Given the description of an element on the screen output the (x, y) to click on. 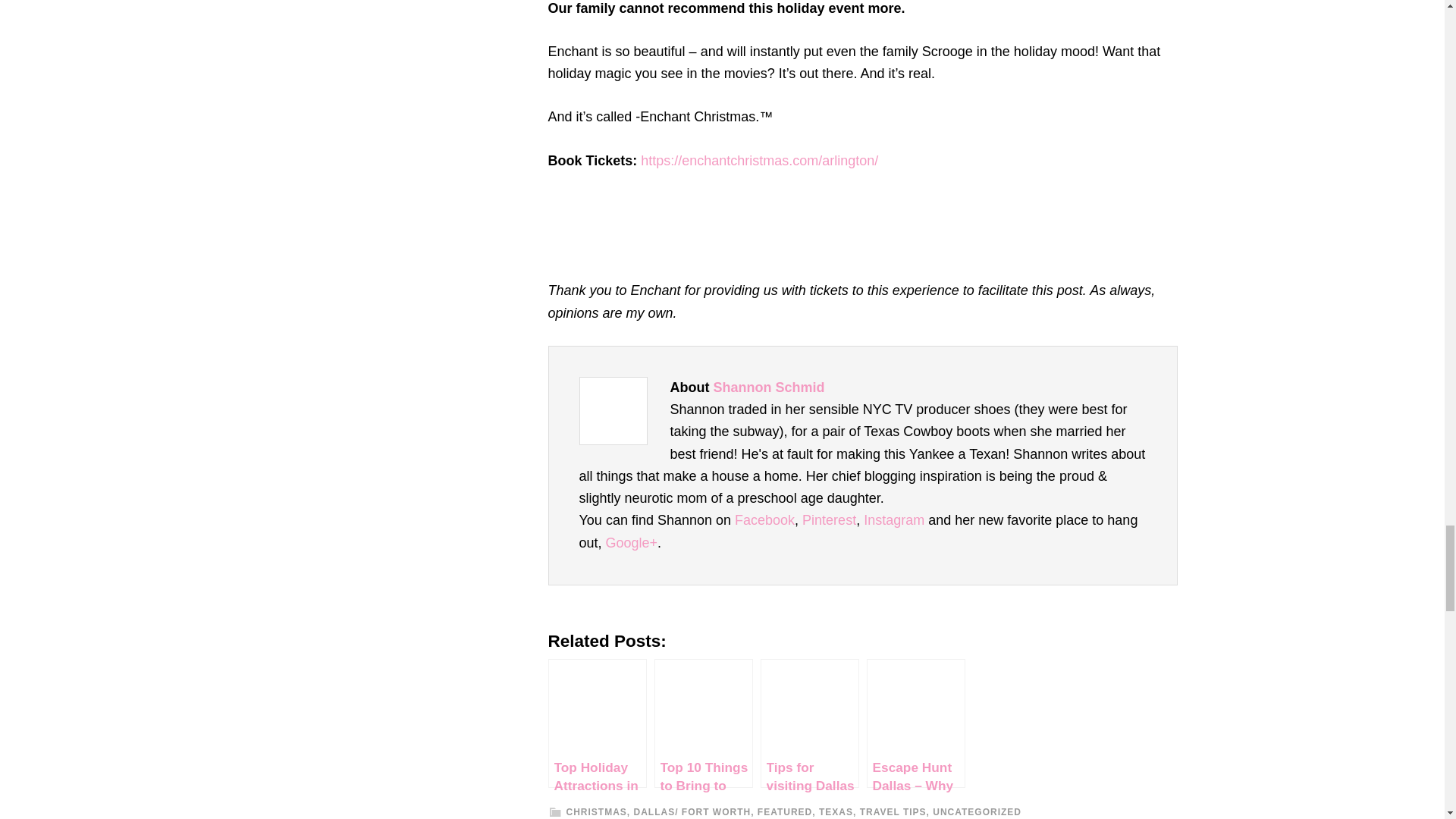
Top 10 Things to Bring to KAABOO Music Festival (702, 723)
